Given the description of an element on the screen output the (x, y) to click on. 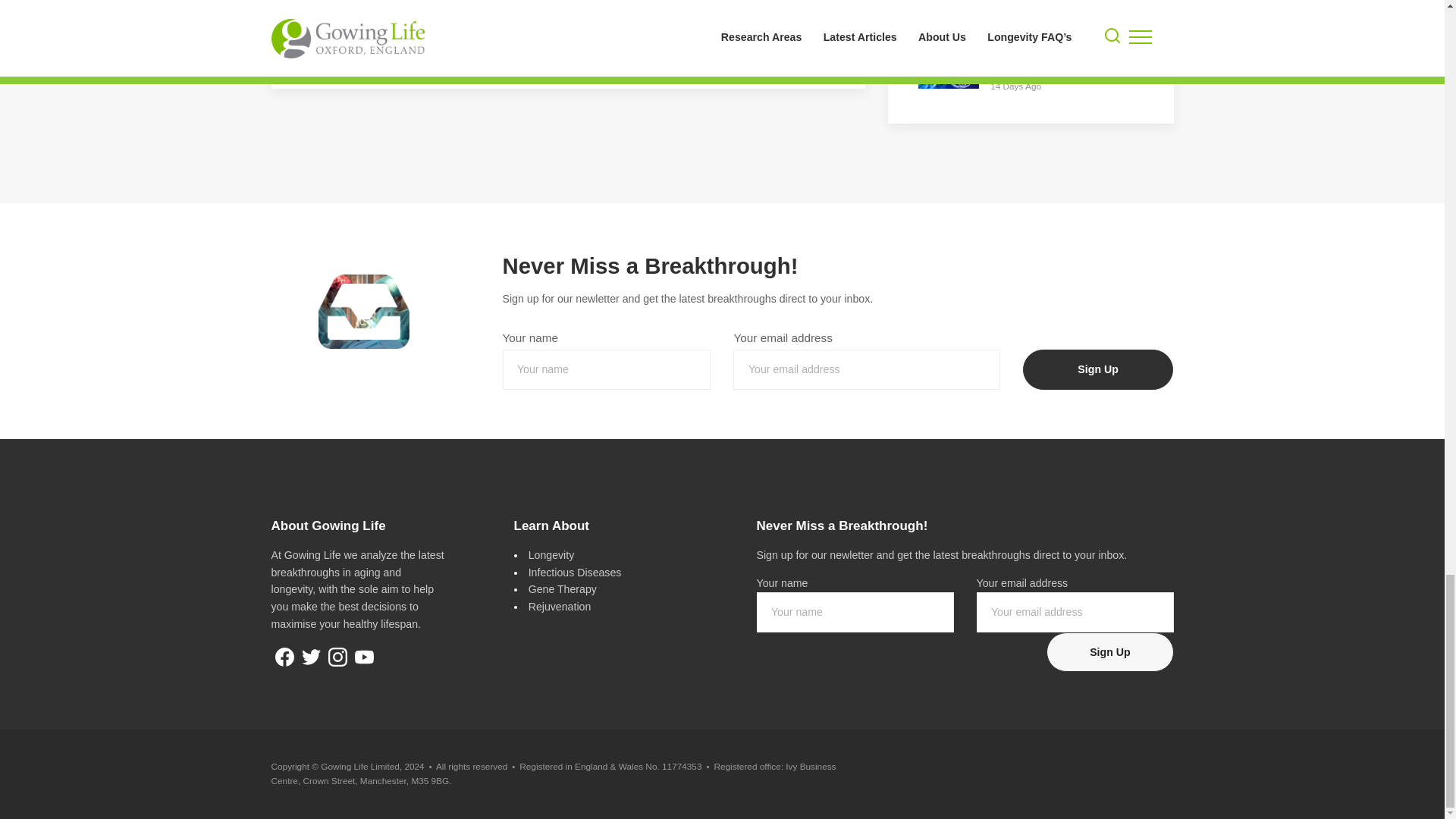
COVID-19 (472, 21)
Learn all about Gene Therapy (562, 589)
Learn all about Infectious Diseases (574, 572)
Sign Up (1109, 652)
Learn all about Longevity (551, 554)
Sign Up (1098, 369)
Coronavirus (393, 21)
Learn all about Rejuvenation (559, 606)
